Given the description of an element on the screen output the (x, y) to click on. 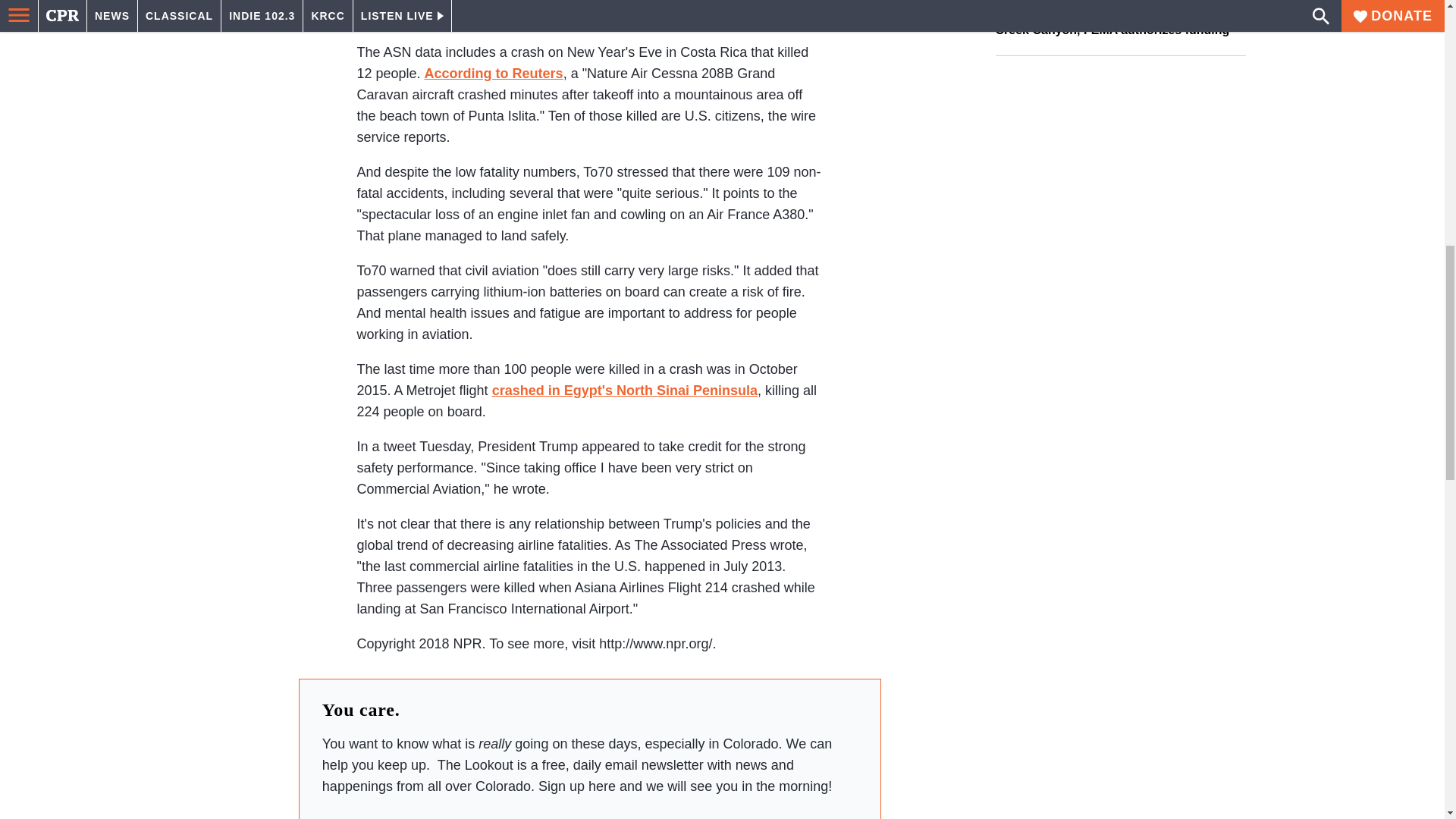
newsArticleSignup (589, 807)
